Given the description of an element on the screen output the (x, y) to click on. 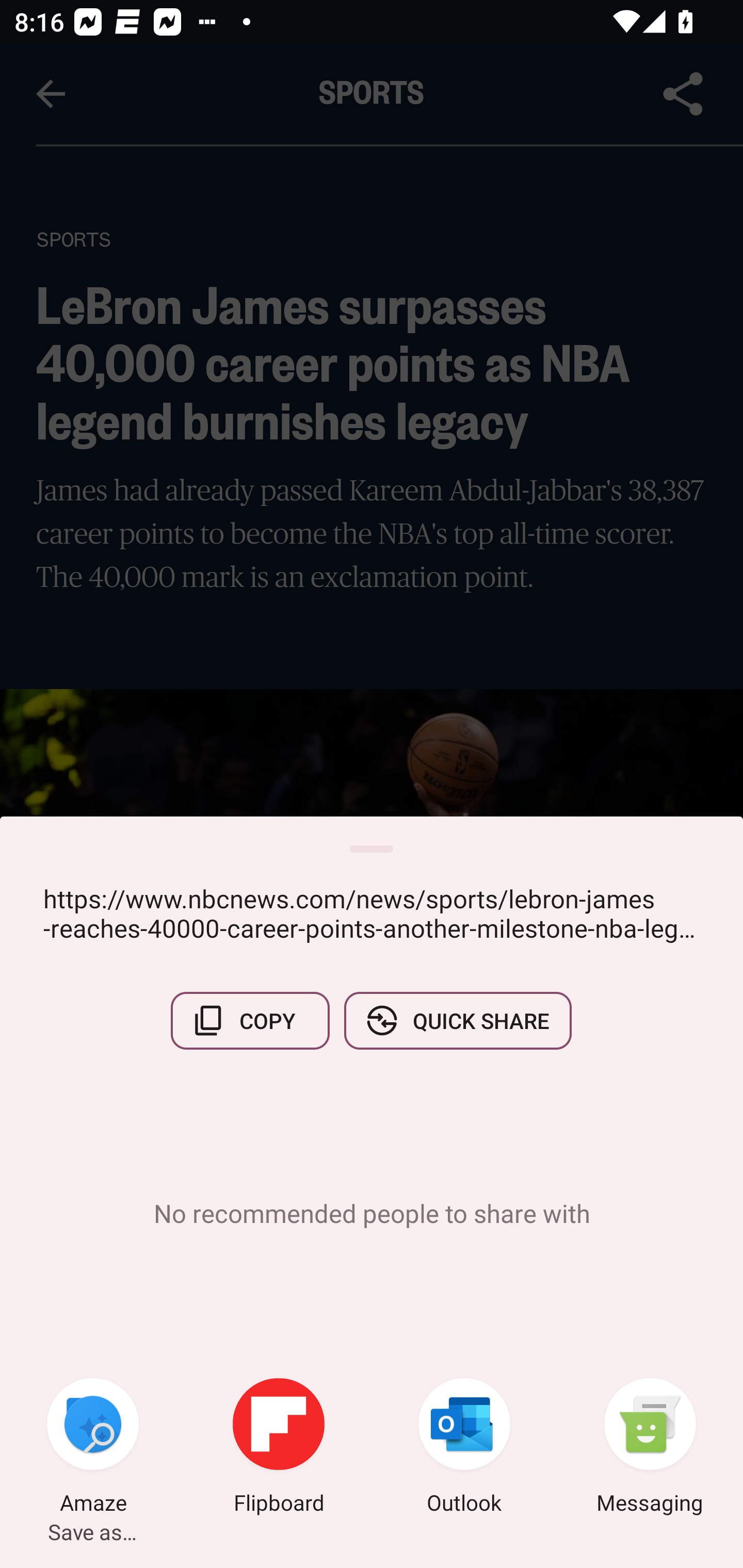
COPY (249, 1020)
QUICK SHARE (457, 1020)
Amaze Save as… (92, 1448)
Flipboard (278, 1448)
Outlook (464, 1448)
Messaging (650, 1448)
